Given the description of an element on the screen output the (x, y) to click on. 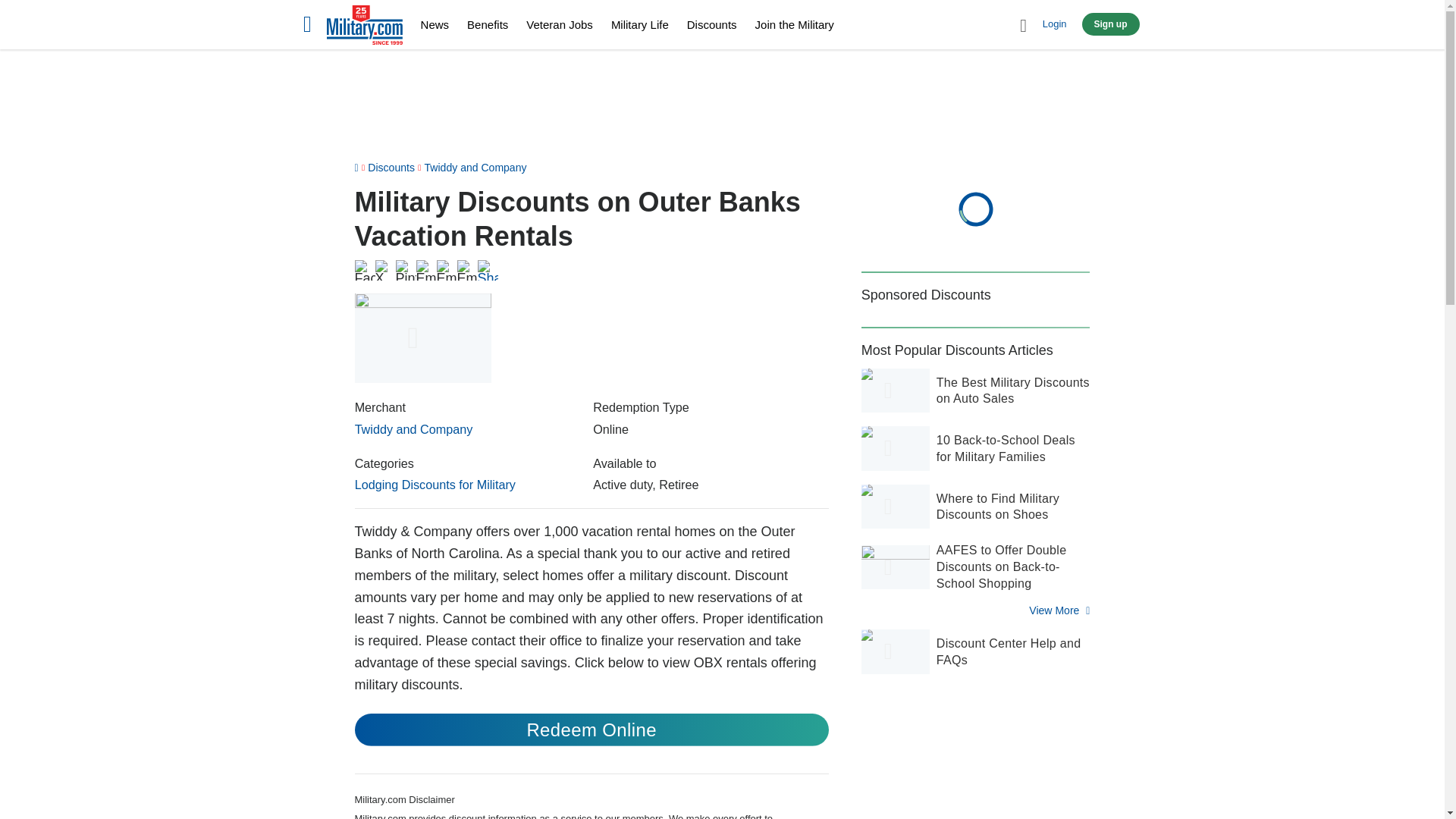
Home (364, 27)
Veteran Jobs (558, 24)
Benefits (487, 24)
Military Life (639, 24)
